Given the description of an element on the screen output the (x, y) to click on. 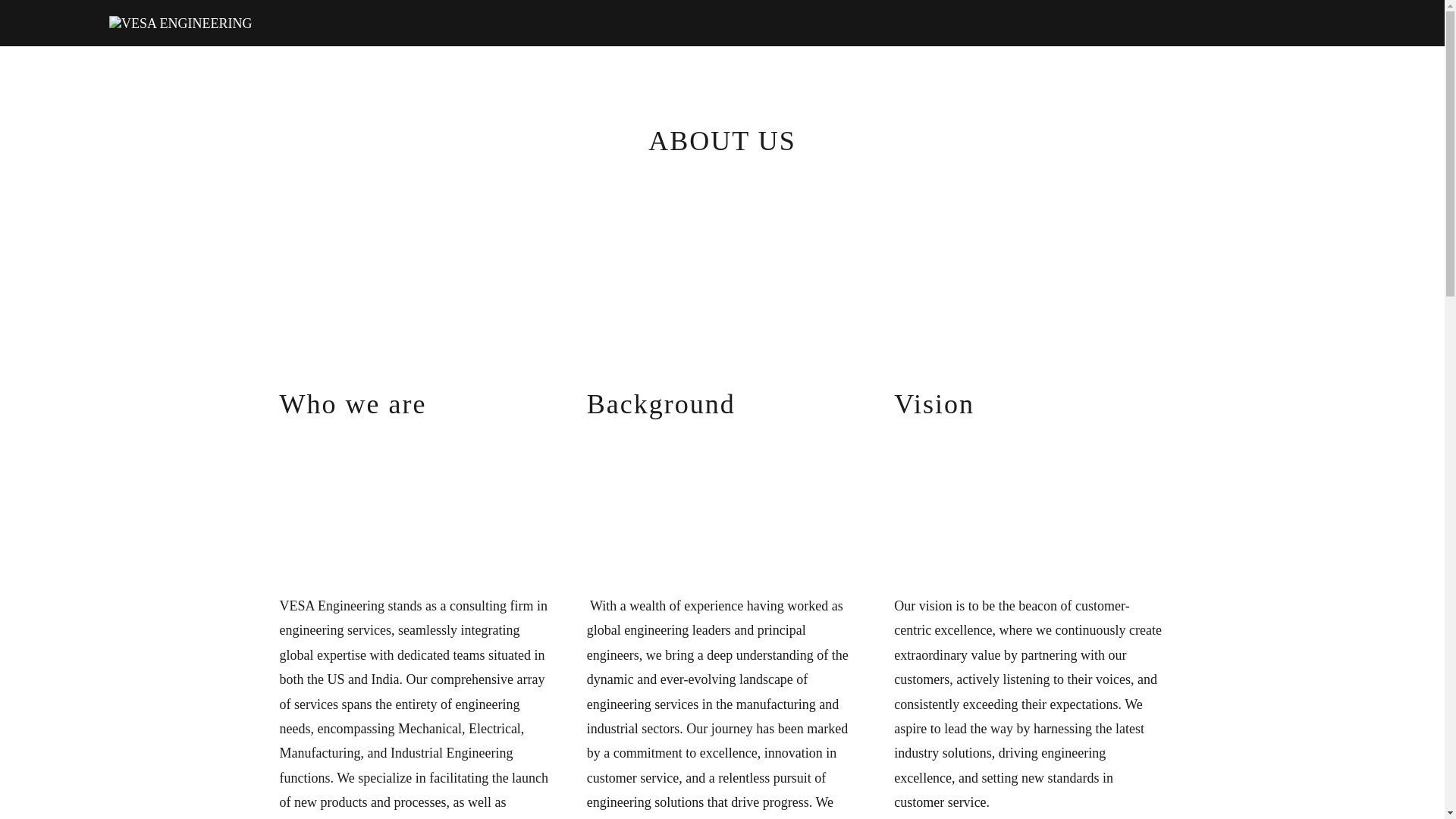
VESA ENGINEERING (180, 21)
